Given the description of an element on the screen output the (x, y) to click on. 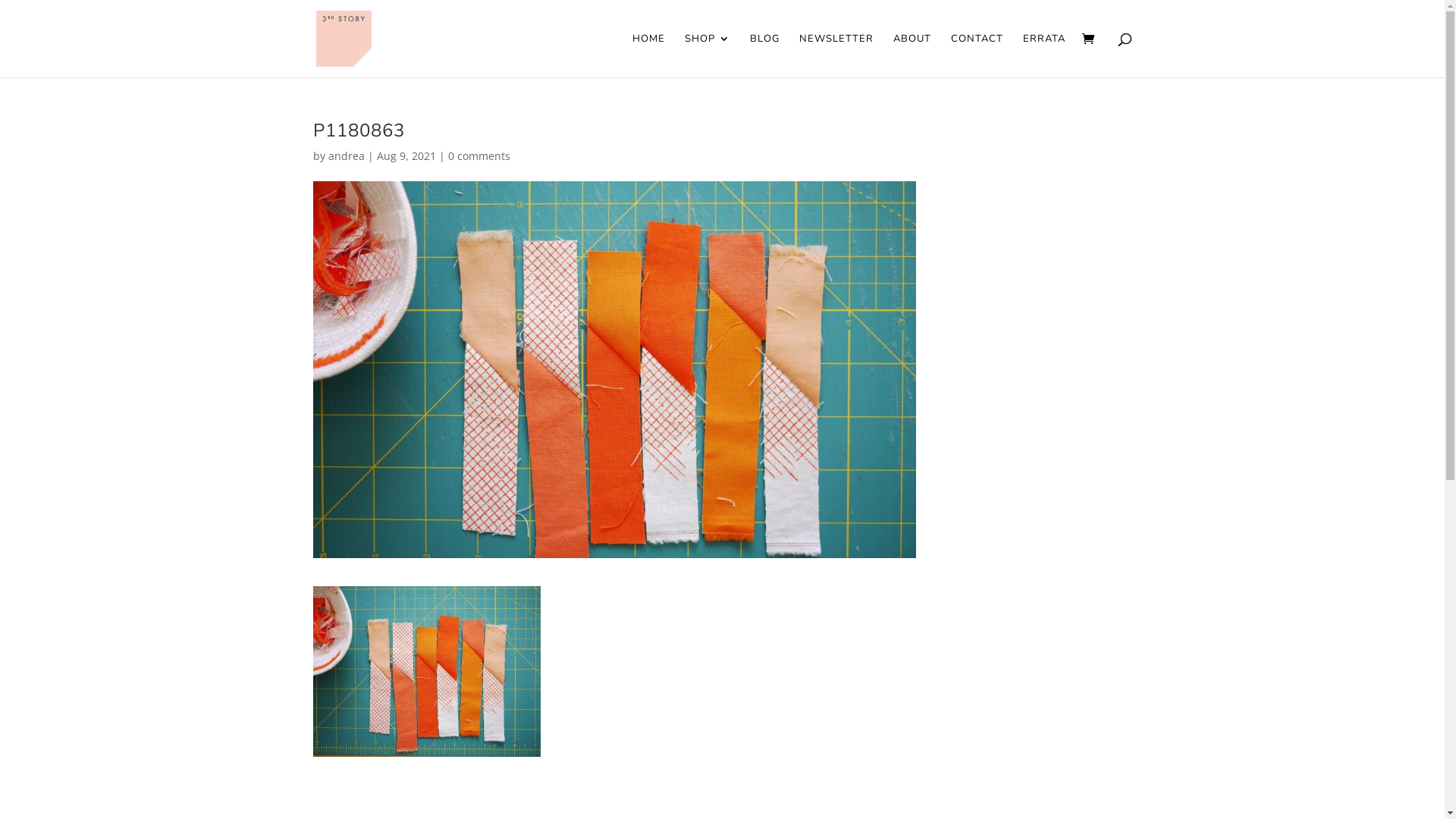
0 comments Element type: text (478, 155)
andrea Element type: text (345, 155)
CONTACT Element type: text (976, 55)
HOME Element type: text (648, 55)
NEWSLETTER Element type: text (836, 55)
SHOP Element type: text (706, 55)
BLOG Element type: text (763, 55)
ERRATA Element type: text (1043, 55)
ABOUT Element type: text (912, 55)
